Given the description of an element on the screen output the (x, y) to click on. 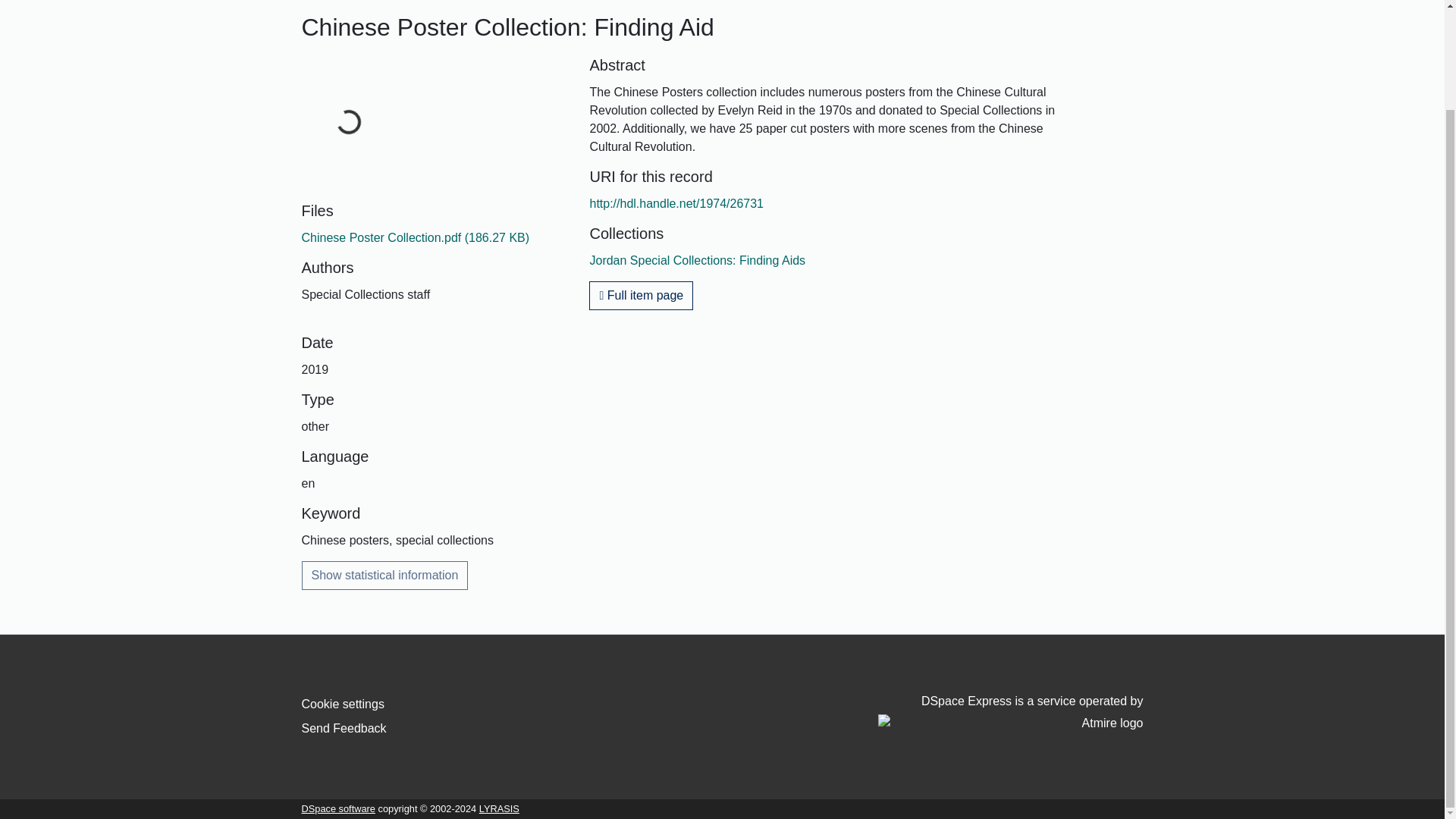
DSpace Express is a service operated by (1009, 713)
Jordan Special Collections: Finding Aids (697, 259)
Cookie settings (342, 703)
Send Feedback (344, 727)
Full item page (641, 295)
LYRASIS (499, 808)
Show statistical information (384, 575)
DSpace software (338, 808)
